Given the description of an element on the screen output the (x, y) to click on. 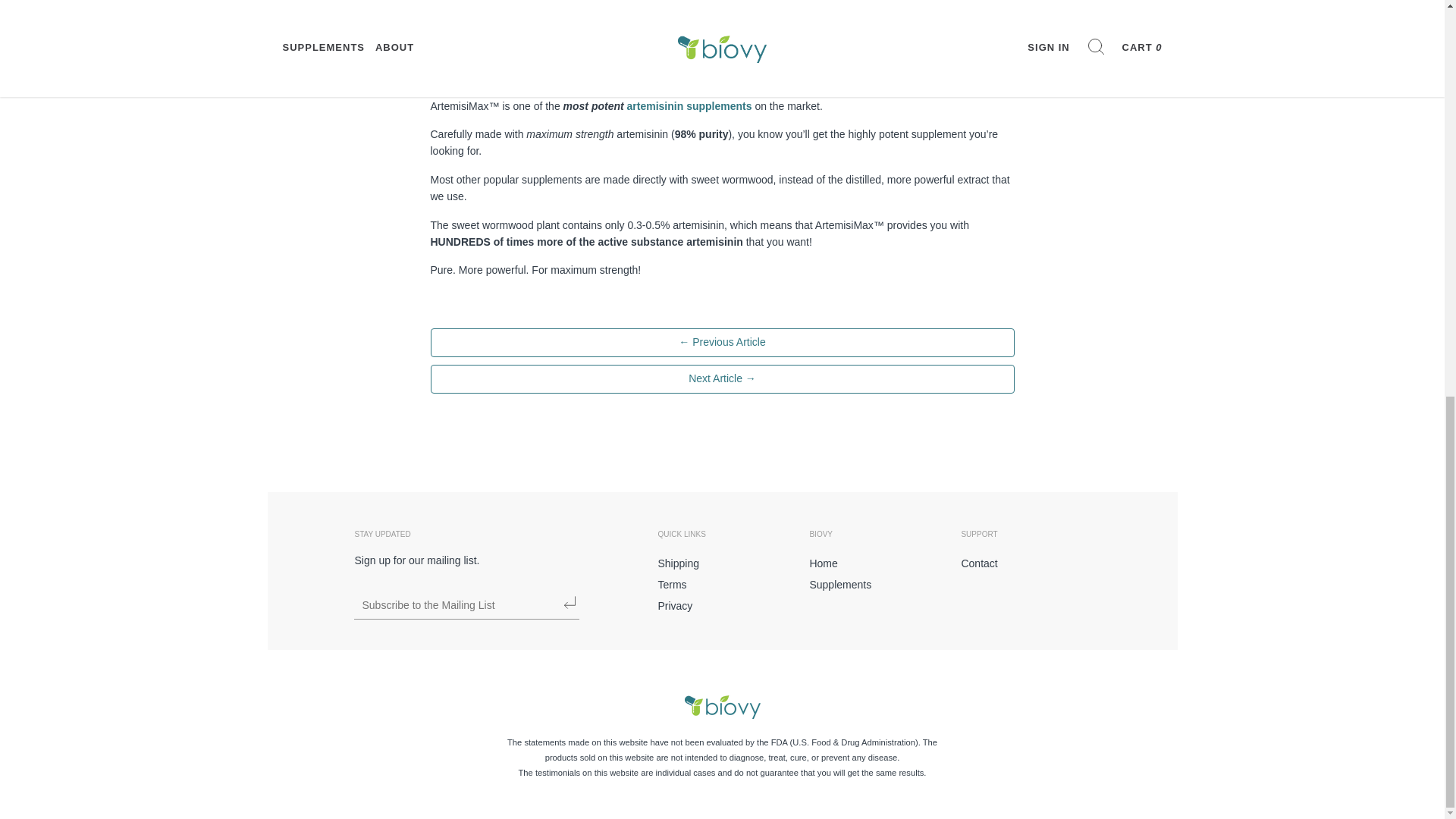
artemisinin supplements (689, 105)
Terms (722, 585)
Shipping (722, 563)
